Given the description of an element on the screen output the (x, y) to click on. 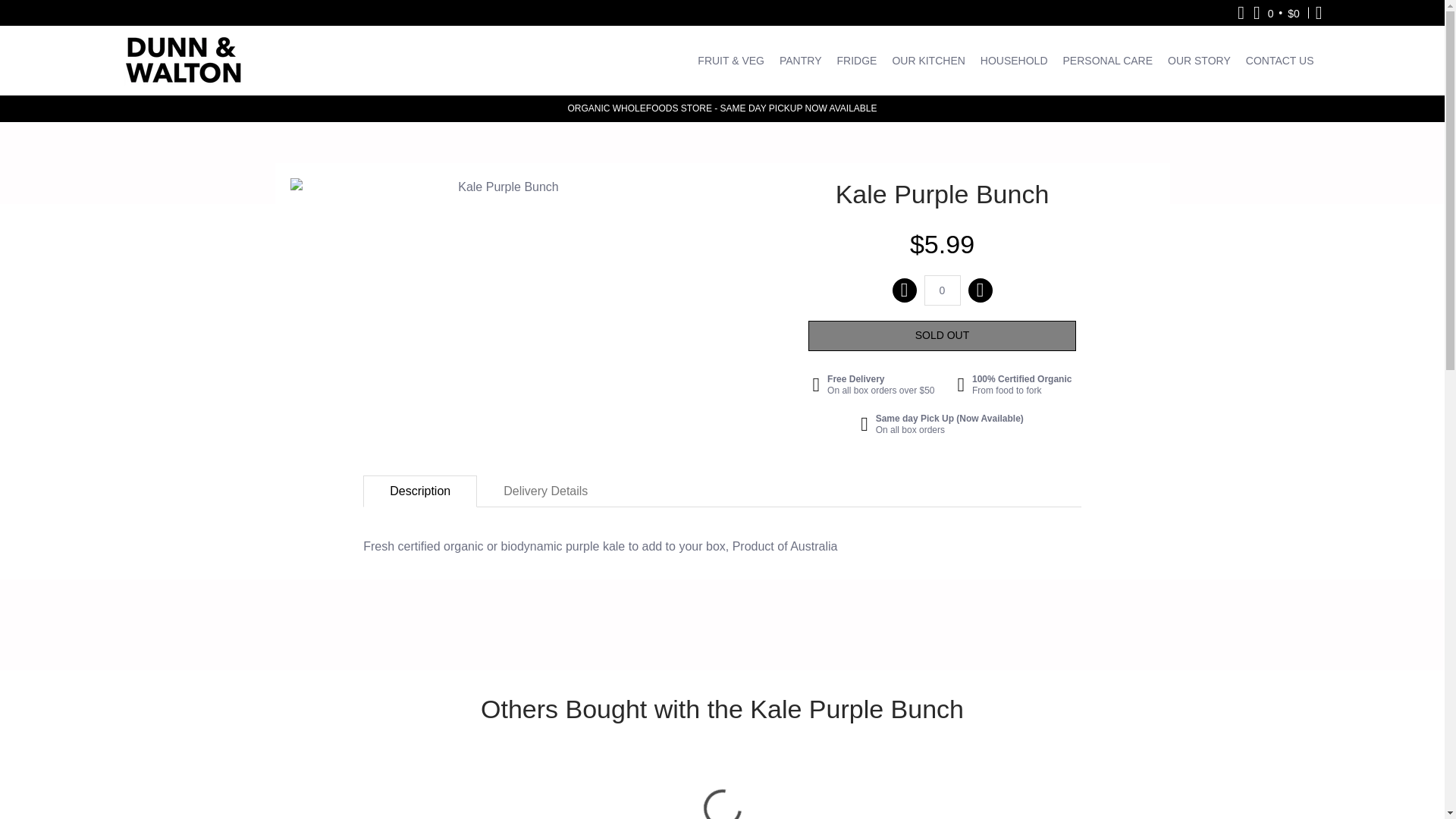
SOLD OUT (941, 336)
PANTRY (800, 60)
PANTRY (800, 60)
Cart (1276, 12)
Search (1241, 12)
OUR KITCHEN (927, 60)
Log in (1318, 12)
FRIDGE (855, 60)
0 (941, 290)
